Given the description of an element on the screen output the (x, y) to click on. 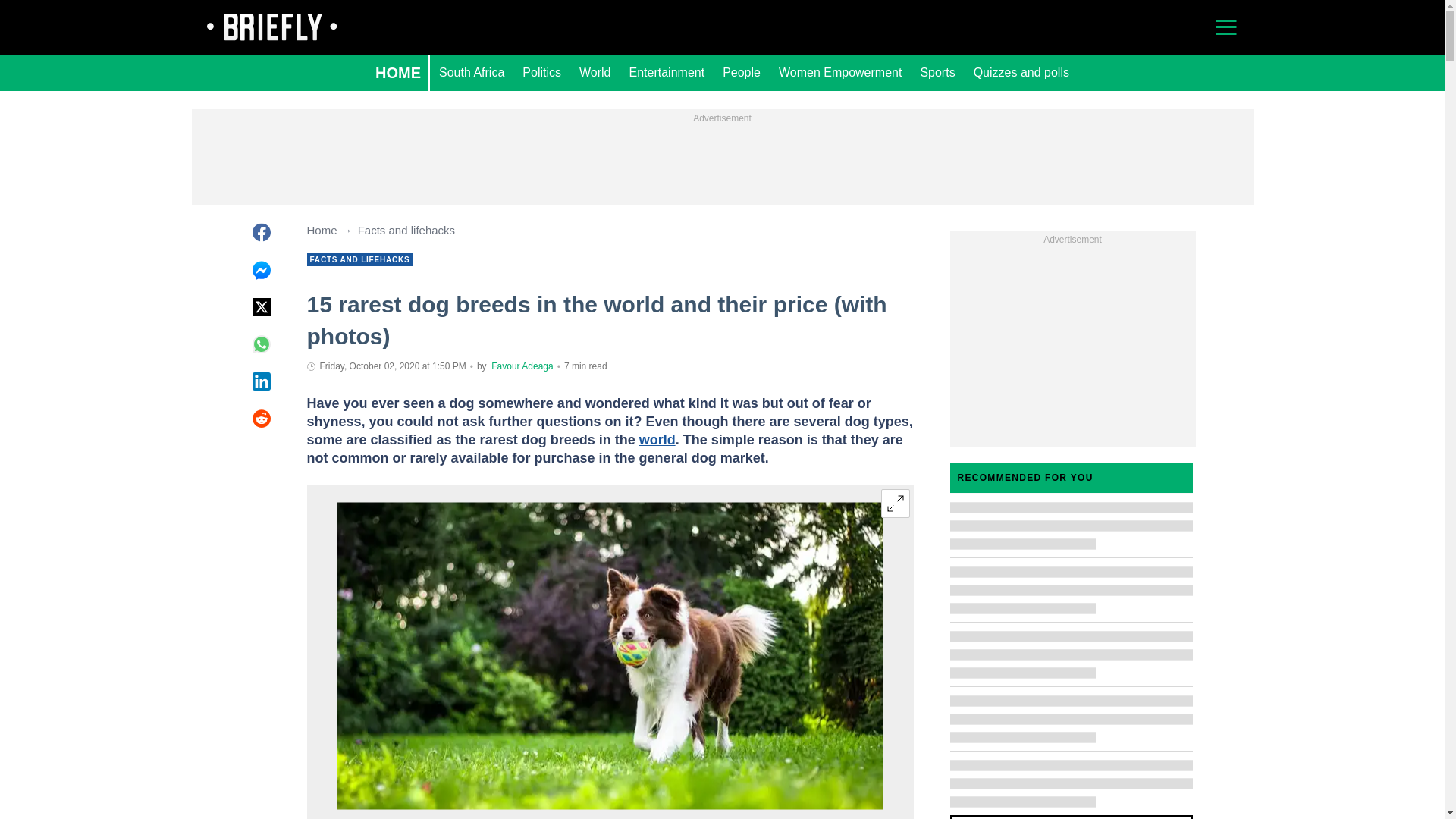
Politics (541, 72)
Expand image (895, 502)
South Africa (471, 72)
HOME (397, 72)
Women Empowerment (840, 72)
People (741, 72)
Author page (522, 366)
Entertainment (667, 72)
Sports (937, 72)
World (595, 72)
Quizzes and polls (1020, 72)
